Given the description of an element on the screen output the (x, y) to click on. 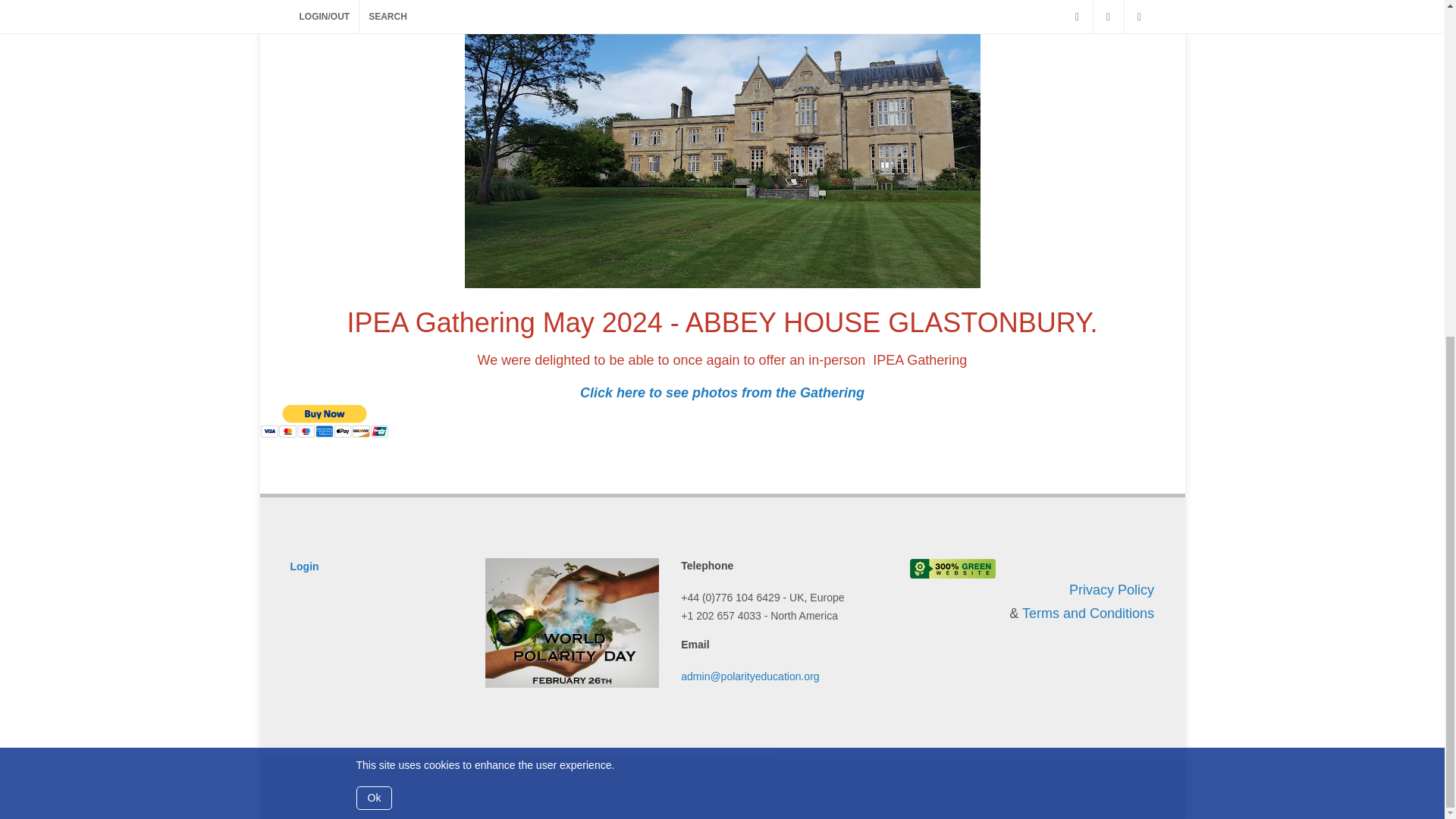
PayPal - The safer, easier way to pay online! (323, 420)
